Given the description of an element on the screen output the (x, y) to click on. 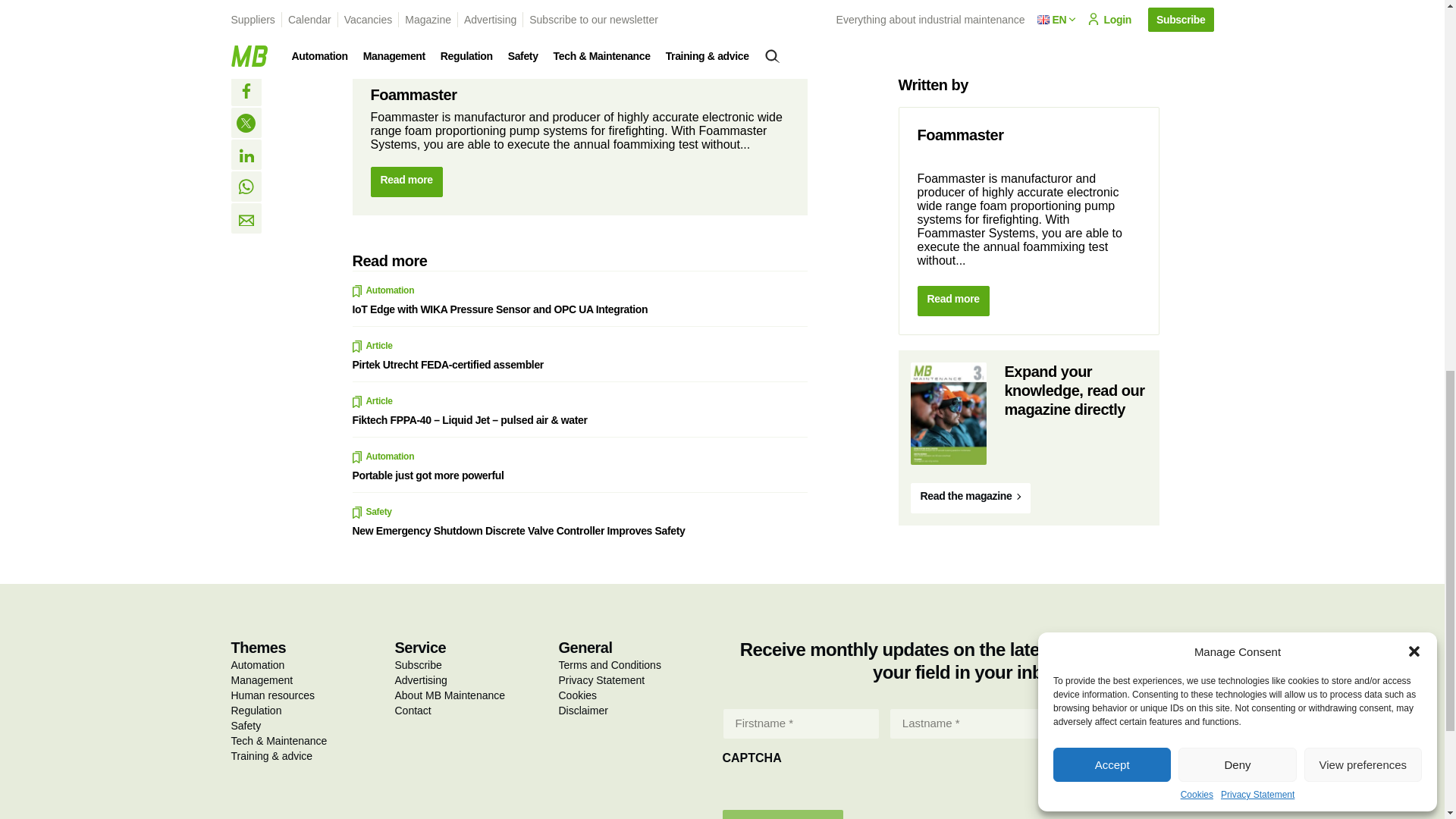
Send (782, 814)
